Given the description of an element on the screen output the (x, y) to click on. 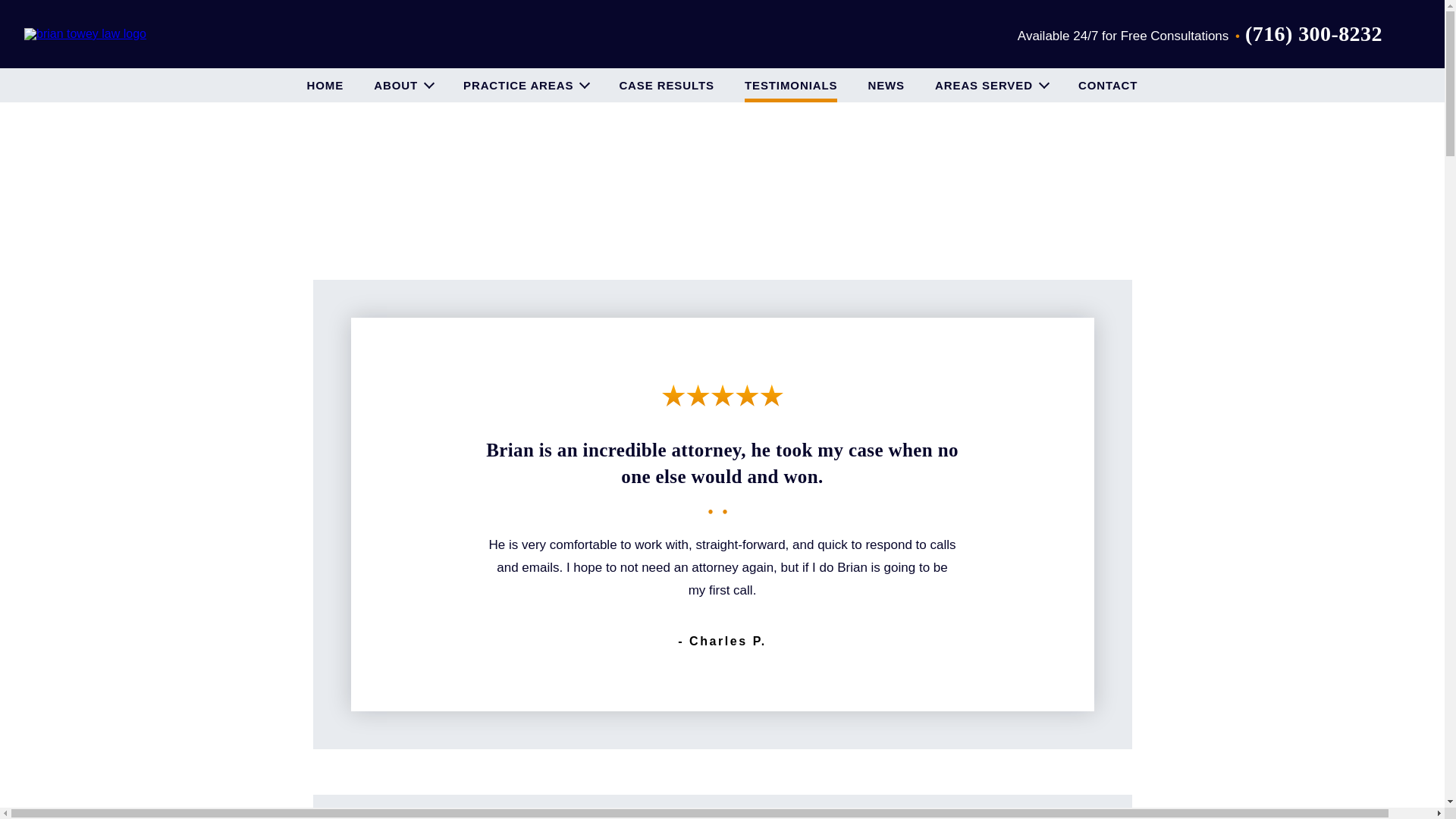
AREAS SERVED (991, 84)
NEWS (885, 84)
CASE RESULTS (666, 84)
ABOUT (403, 84)
HOME (325, 84)
PRACTICE AREAS (525, 84)
CONTACT (1108, 84)
TESTIMONIALS (790, 84)
